Given the description of an element on the screen output the (x, y) to click on. 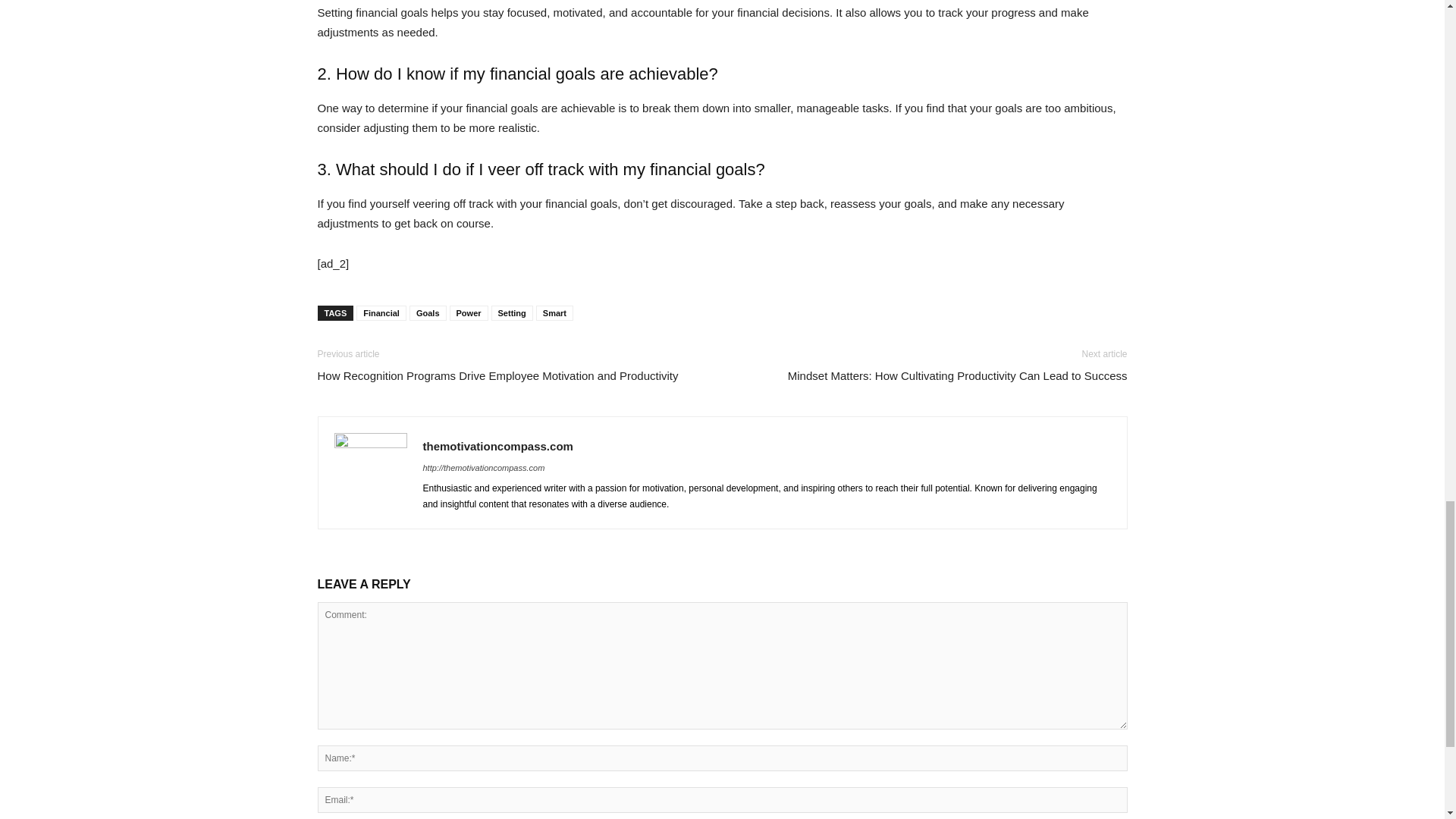
Goals (427, 313)
themotivationcompass.com (498, 445)
Power (468, 313)
Smart (554, 313)
Financial (381, 313)
Setting (512, 313)
